Given the description of an element on the screen output the (x, y) to click on. 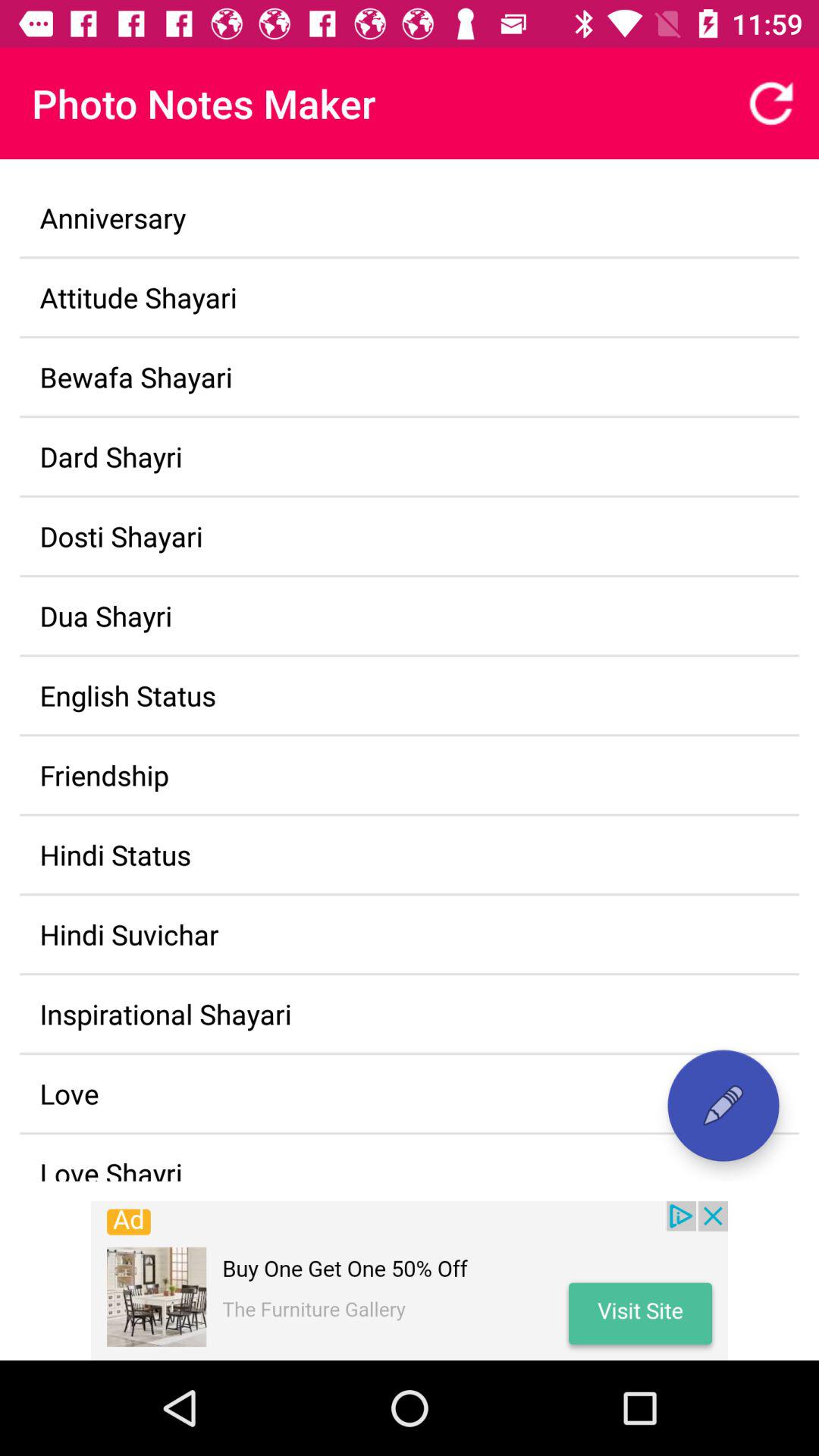
refresh the page (771, 103)
